Given the description of an element on the screen output the (x, y) to click on. 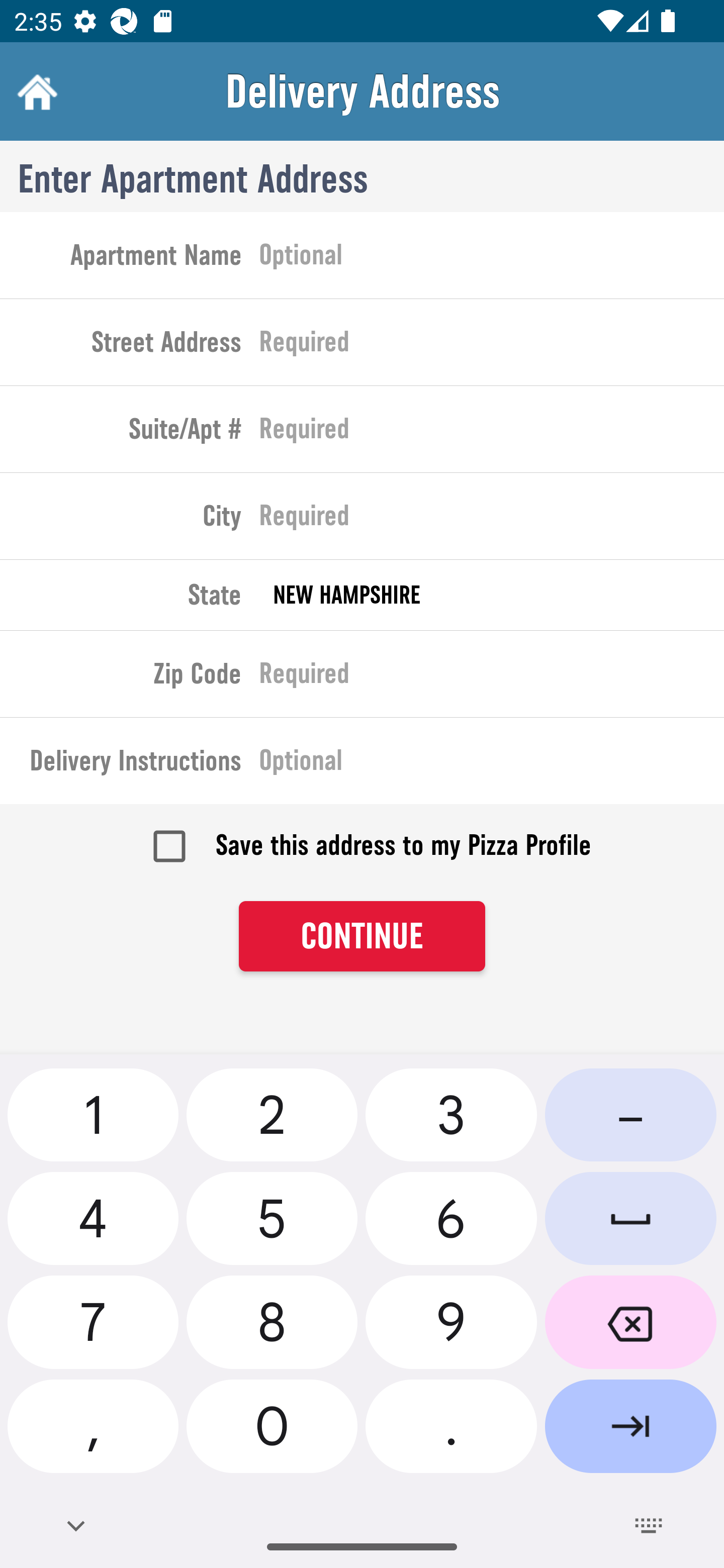
Home (35, 91)
Optional (491, 258)
Required (491, 345)
Required (491, 432)
Required (491, 519)
NEW HAMPSHIRE (491, 594)
Required (491, 677)
Optional (491, 764)
CONTINUE (361, 936)
